Given the description of an element on the screen output the (x, y) to click on. 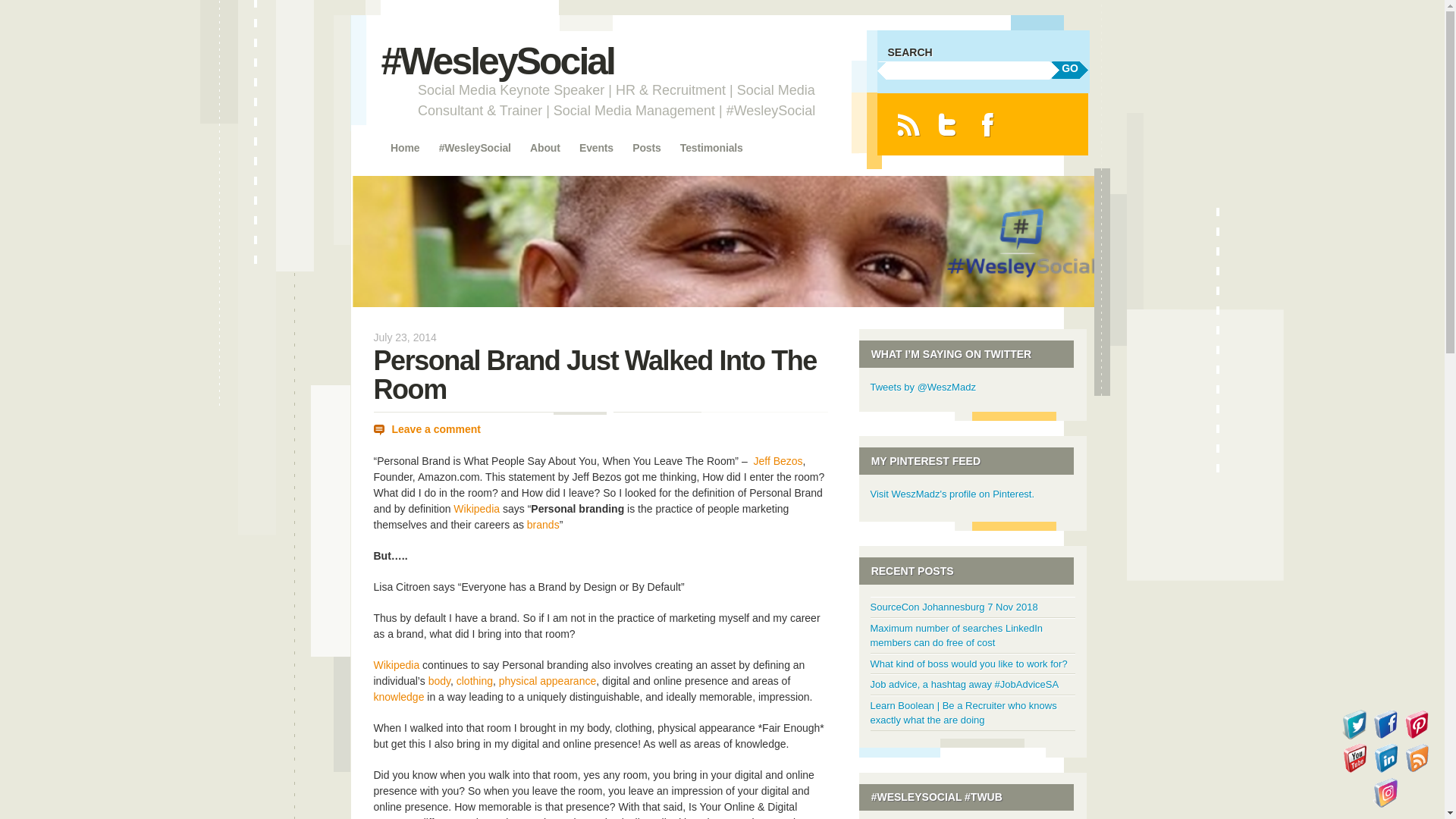
Twitter (947, 124)
Wikipedia (475, 508)
Jeff Bezos (777, 460)
Skip to content (418, 146)
Skip to content (418, 146)
SourceCon Johannesburg 7 Nov 2018 (954, 606)
Wikipedia (395, 664)
GO (1070, 69)
body (438, 680)
knowledge (397, 696)
Human body (438, 680)
Testimonials (710, 148)
Clothing (475, 680)
Human physical appearance (547, 680)
